Given the description of an element on the screen output the (x, y) to click on. 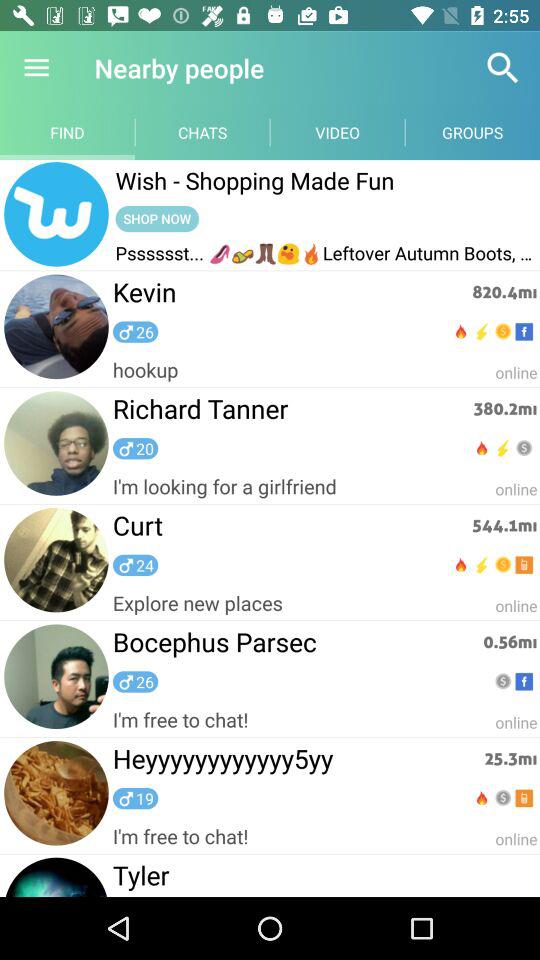
click the icon above the groups icon (503, 67)
